Given the description of an element on the screen output the (x, y) to click on. 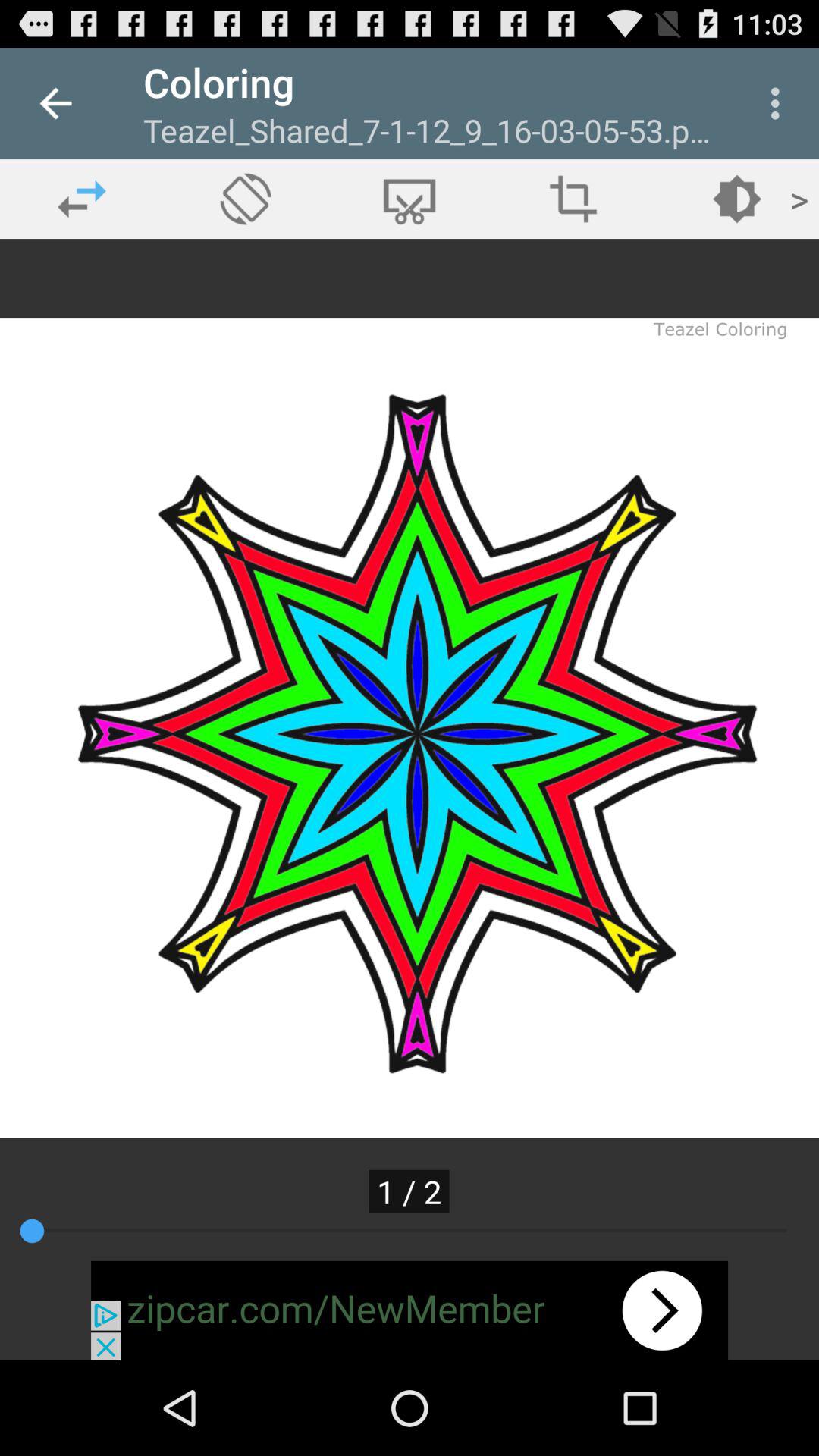
click to view new member advertisements options (409, 1310)
